Given the description of an element on the screen output the (x, y) to click on. 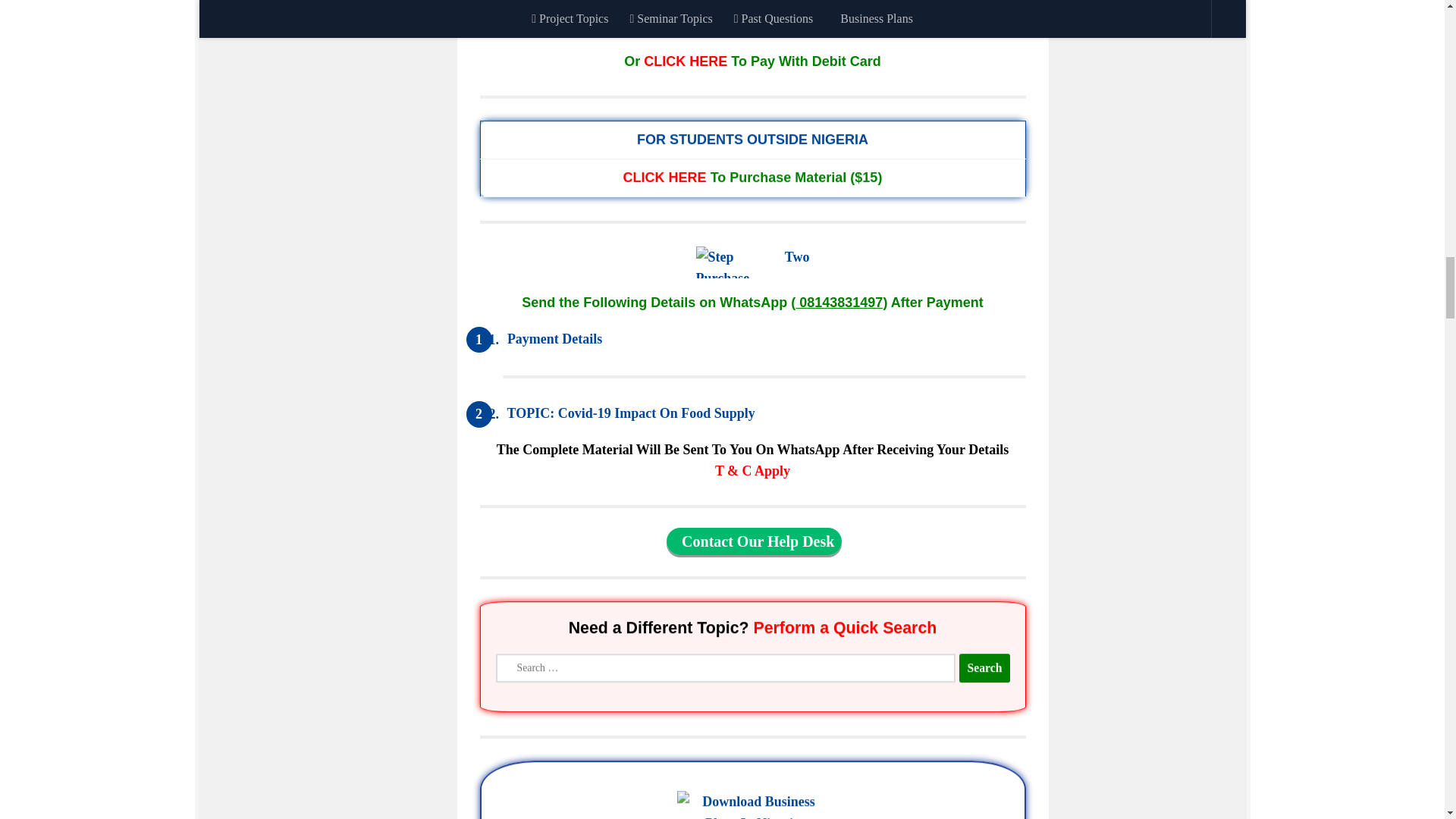
08143831497 (838, 301)
CLICK HERE (664, 176)
Search (984, 668)
Search (984, 668)
Contact Information Page (753, 541)
Search (984, 665)
CLICK HERE (684, 61)
Samphina Terms and Conditions (752, 470)
Contact Our Help Desk (753, 541)
